Given the description of an element on the screen output the (x, y) to click on. 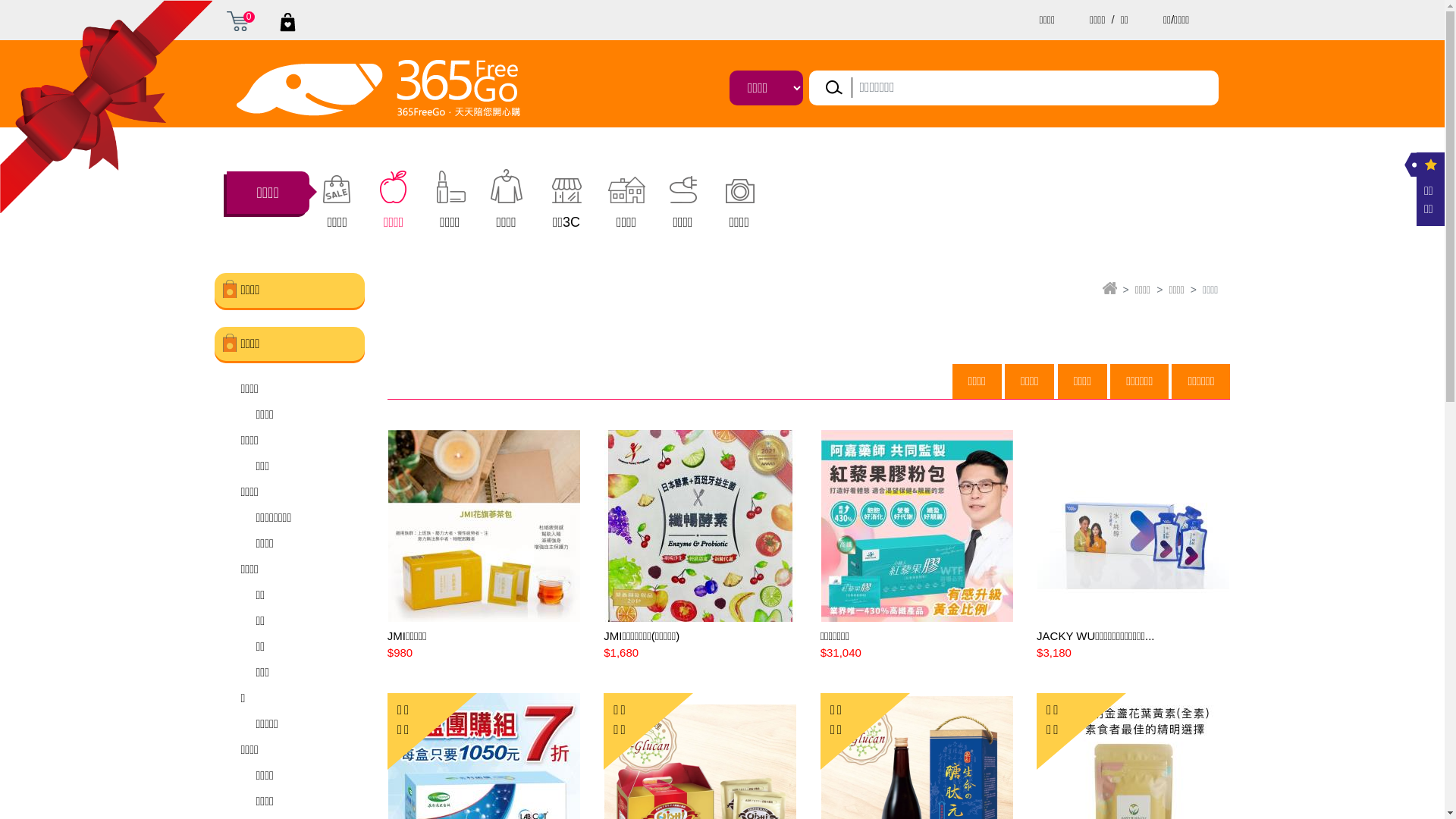
0 Element type: text (236, 20)
